Given the description of an element on the screen output the (x, y) to click on. 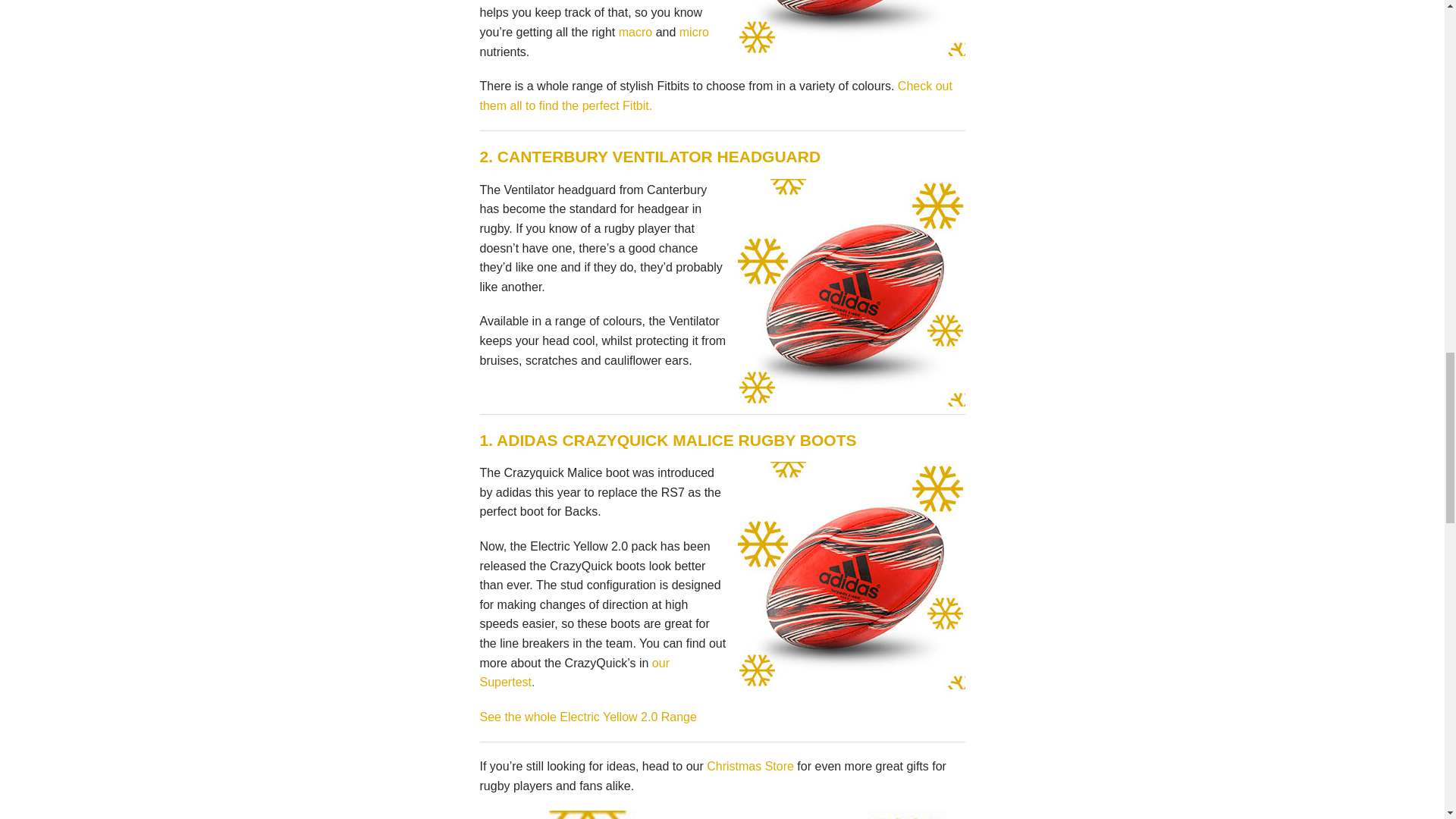
2. CANTERBURY VENTILATOR HEADGUARD (650, 156)
micro (694, 31)
See the whole Electric Yellow 2.0 Range (587, 716)
Check out them all to find the perfect Fitbit. (715, 95)
our Supertest. (573, 672)
1. ADIDAS CRAZYQUICK MALICE RUGBY BOOTS (667, 439)
Christmas Store (751, 766)
macro (635, 31)
